Given the description of an element on the screen output the (x, y) to click on. 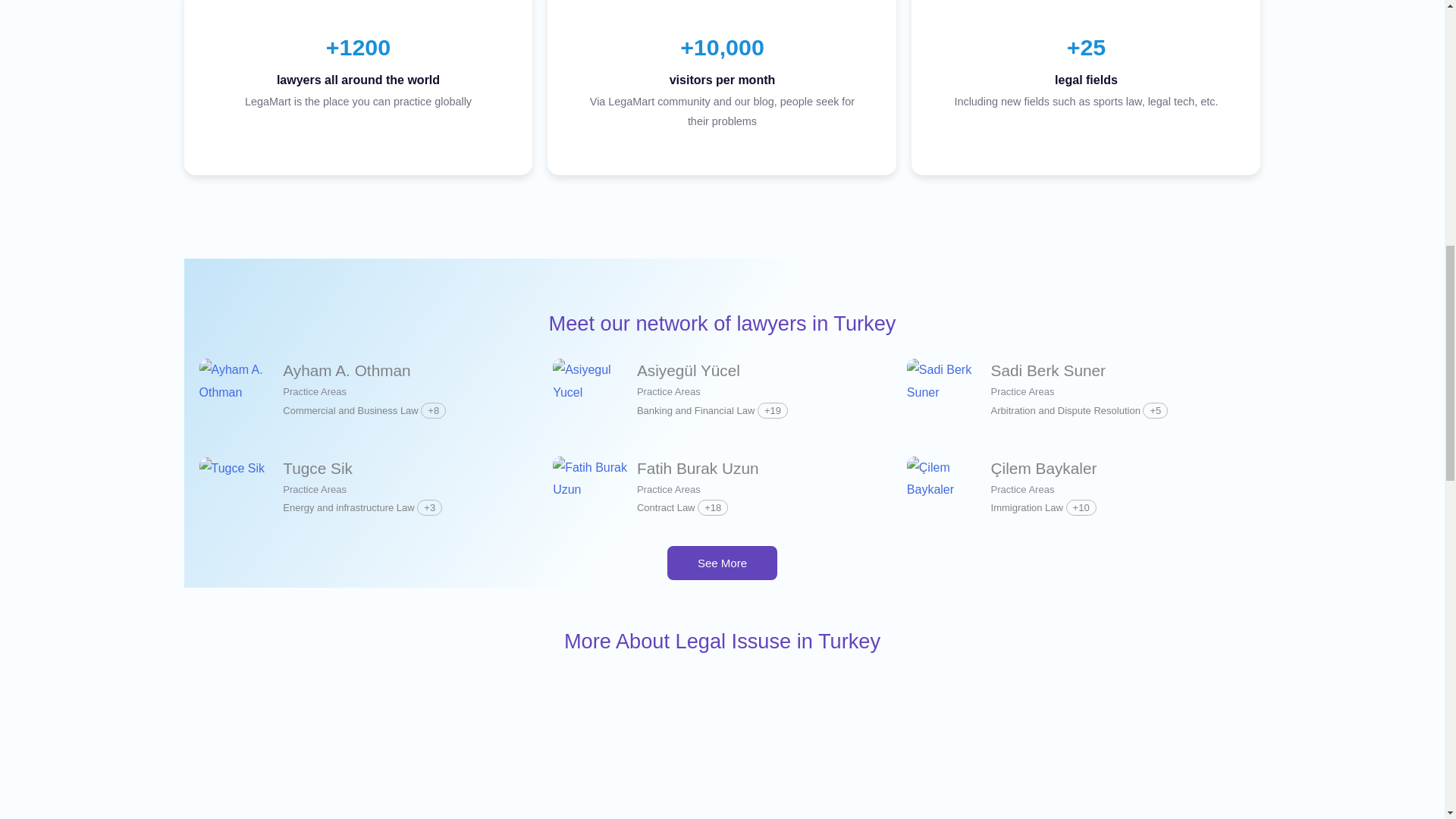
Ayham A. Othman (346, 370)
Sadi Berk Suner (1048, 370)
Tugce Sik (231, 468)
Asiyegul Yucel (590, 380)
Ayham A. Othman (236, 380)
Fatih Burak Uzun (697, 467)
Sadi Berk Suner (945, 380)
Fatih Burak Uzun (590, 478)
See More (721, 562)
Tugce Sik (317, 467)
